Given the description of an element on the screen output the (x, y) to click on. 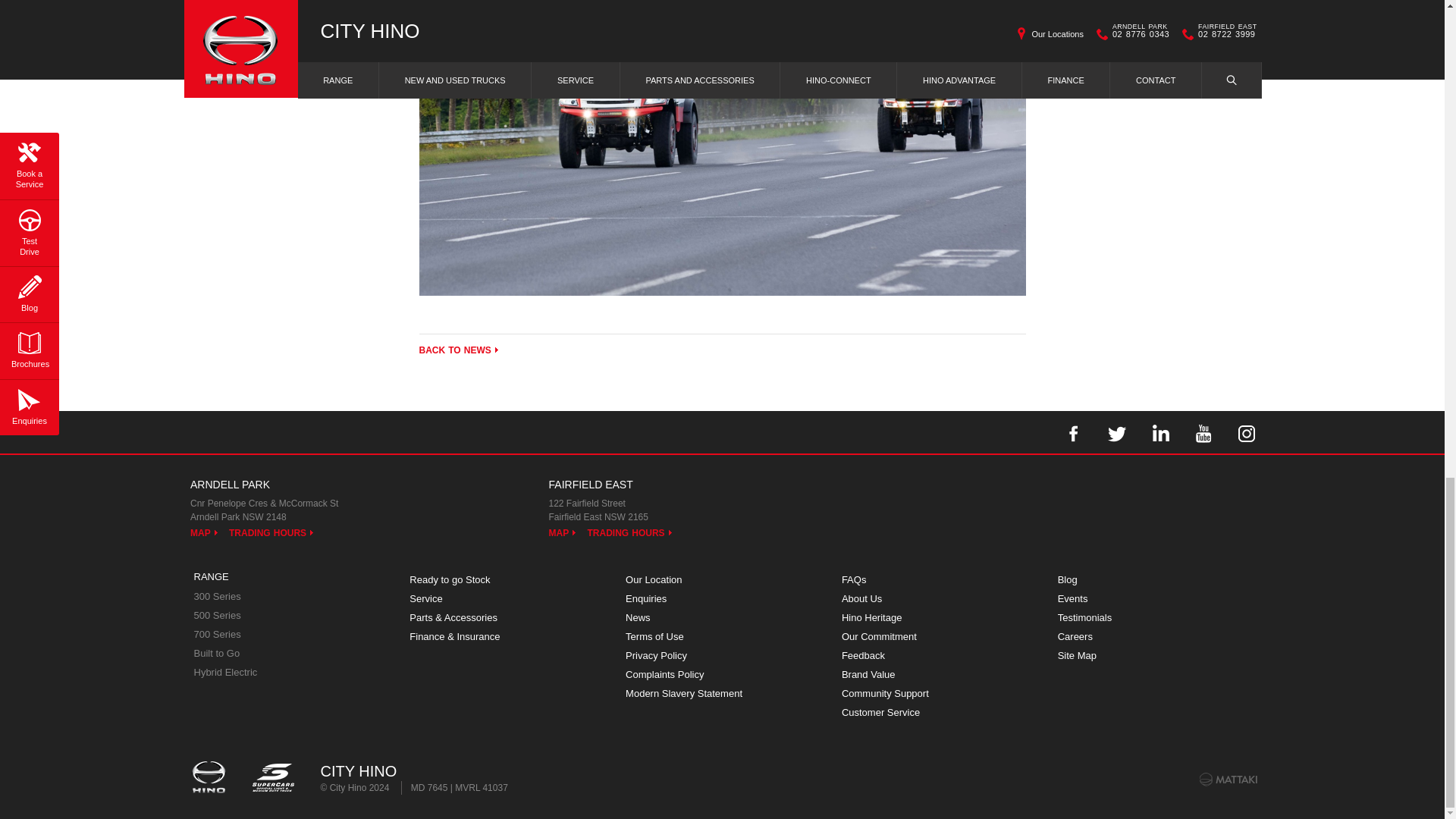
Visit our YouTube Channel (1202, 432)
Follow Us on LinkedIn (1159, 432)
Follow Us on Instagram (1246, 432)
Return to the Home Page (210, 778)
Supercars (272, 778)
Follow Us on Twitter (1115, 432)
Become a Friend on Facebook (1073, 432)
